Given the description of an element on the screen output the (x, y) to click on. 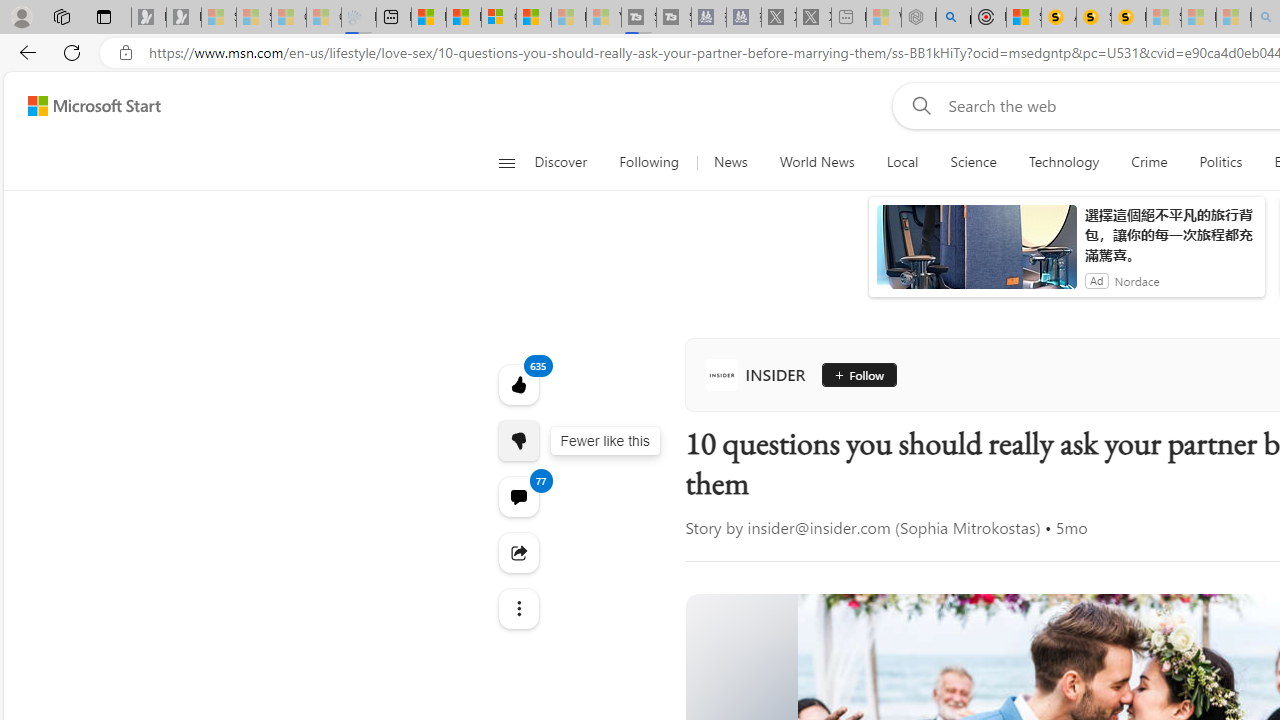
See more (517, 609)
Science (973, 162)
Newsletter Sign Up - Sleeping (183, 17)
Nordace (1136, 280)
News (729, 162)
Discover (560, 162)
Local (902, 162)
Refresh (72, 52)
635 Like (517, 384)
World News (816, 162)
